Given the description of an element on the screen output the (x, y) to click on. 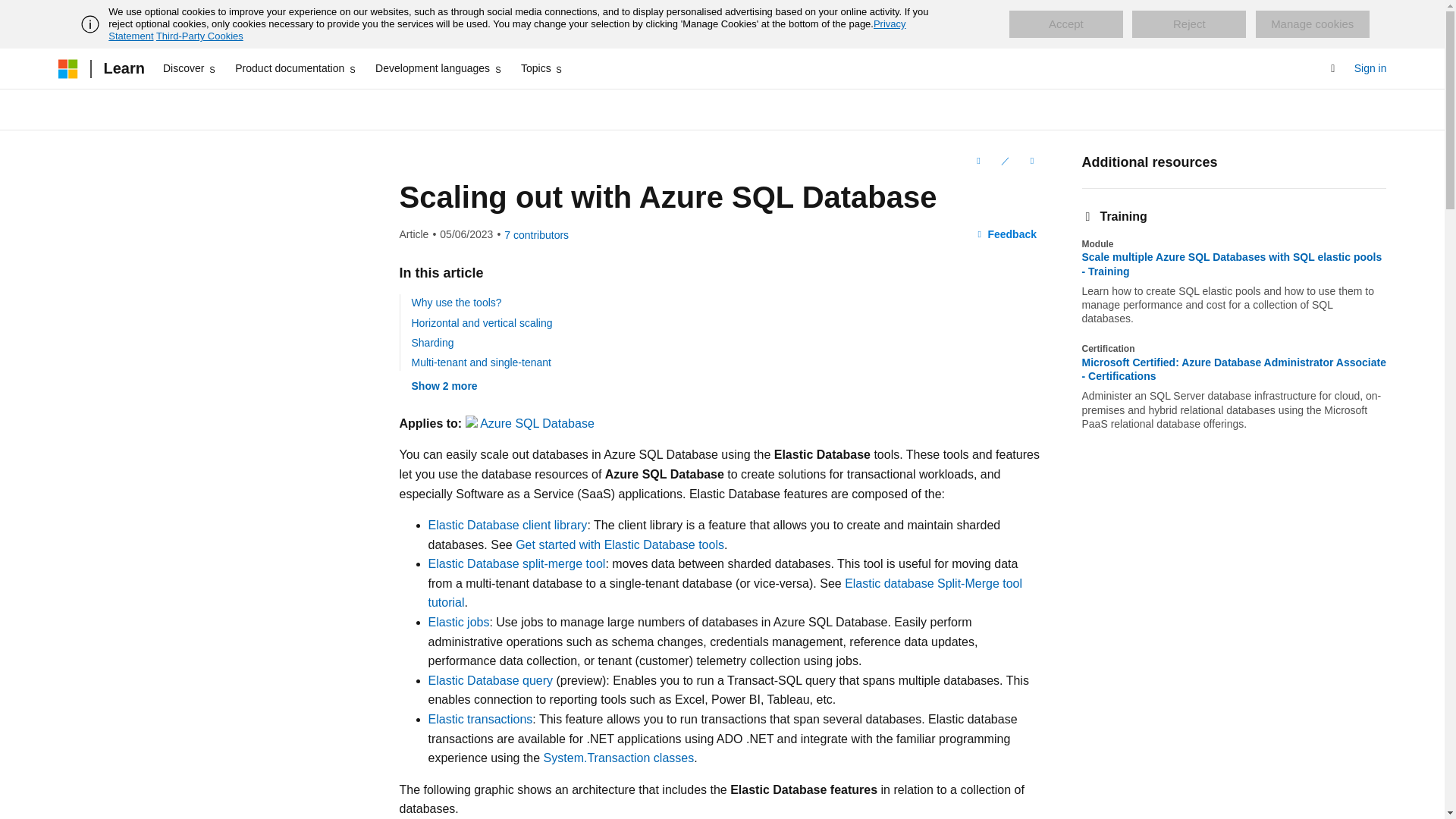
Privacy Statement (506, 29)
Learn (123, 68)
Edit This Document (1004, 160)
Sign in (1370, 68)
7 contributors (536, 234)
Third-Party Cookies (199, 35)
Discover (189, 68)
Topics (542, 68)
More actions (1031, 160)
Skip to main content (11, 11)
